Given the description of an element on the screen output the (x, y) to click on. 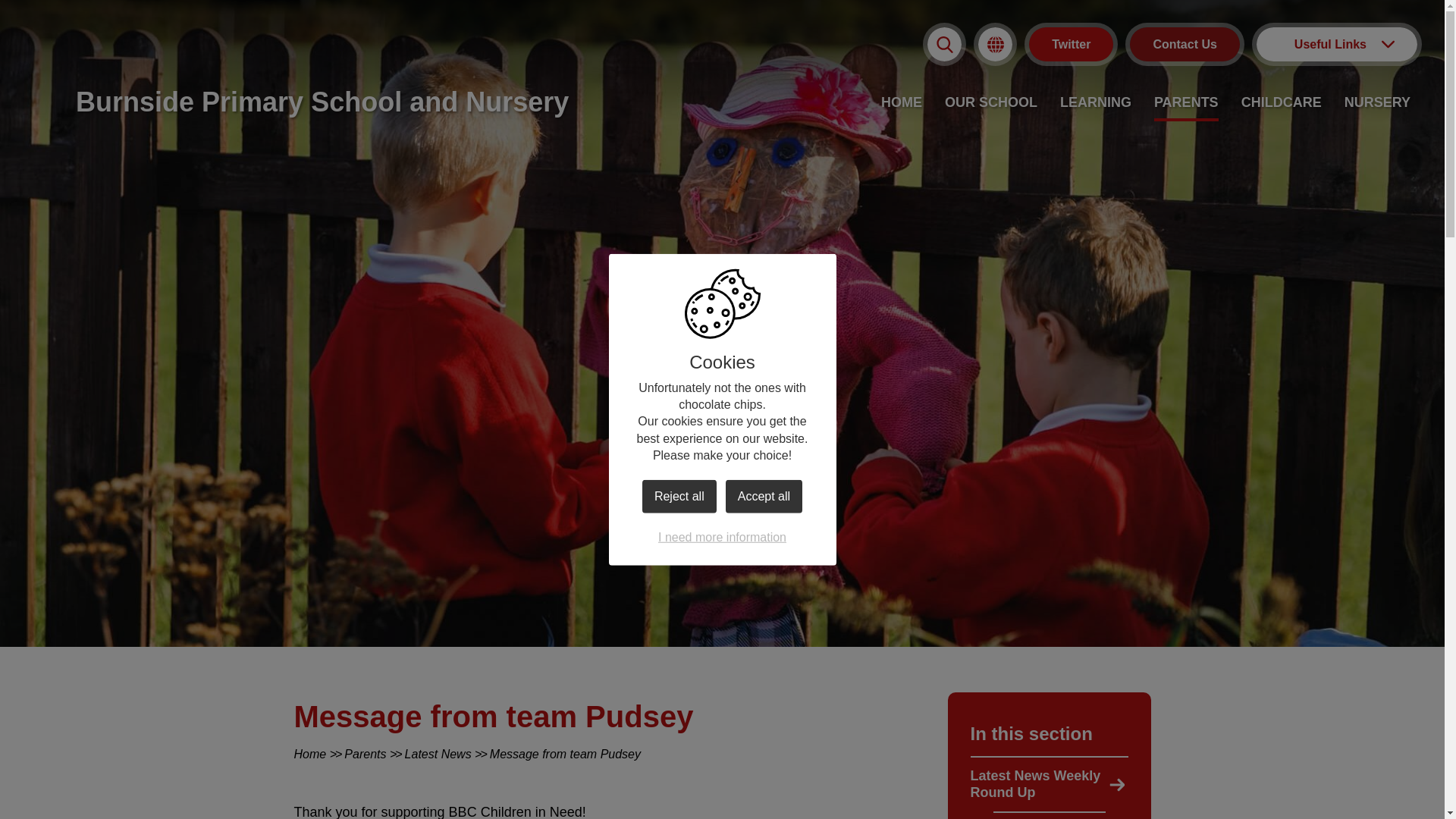
LEARNING (1095, 103)
OUR SCHOOL (990, 103)
Burnside Primary School and Nursery (322, 101)
Contact Us (1184, 44)
HOME (900, 103)
Twitter (1071, 44)
Home Page (322, 101)
